Given the description of an element on the screen output the (x, y) to click on. 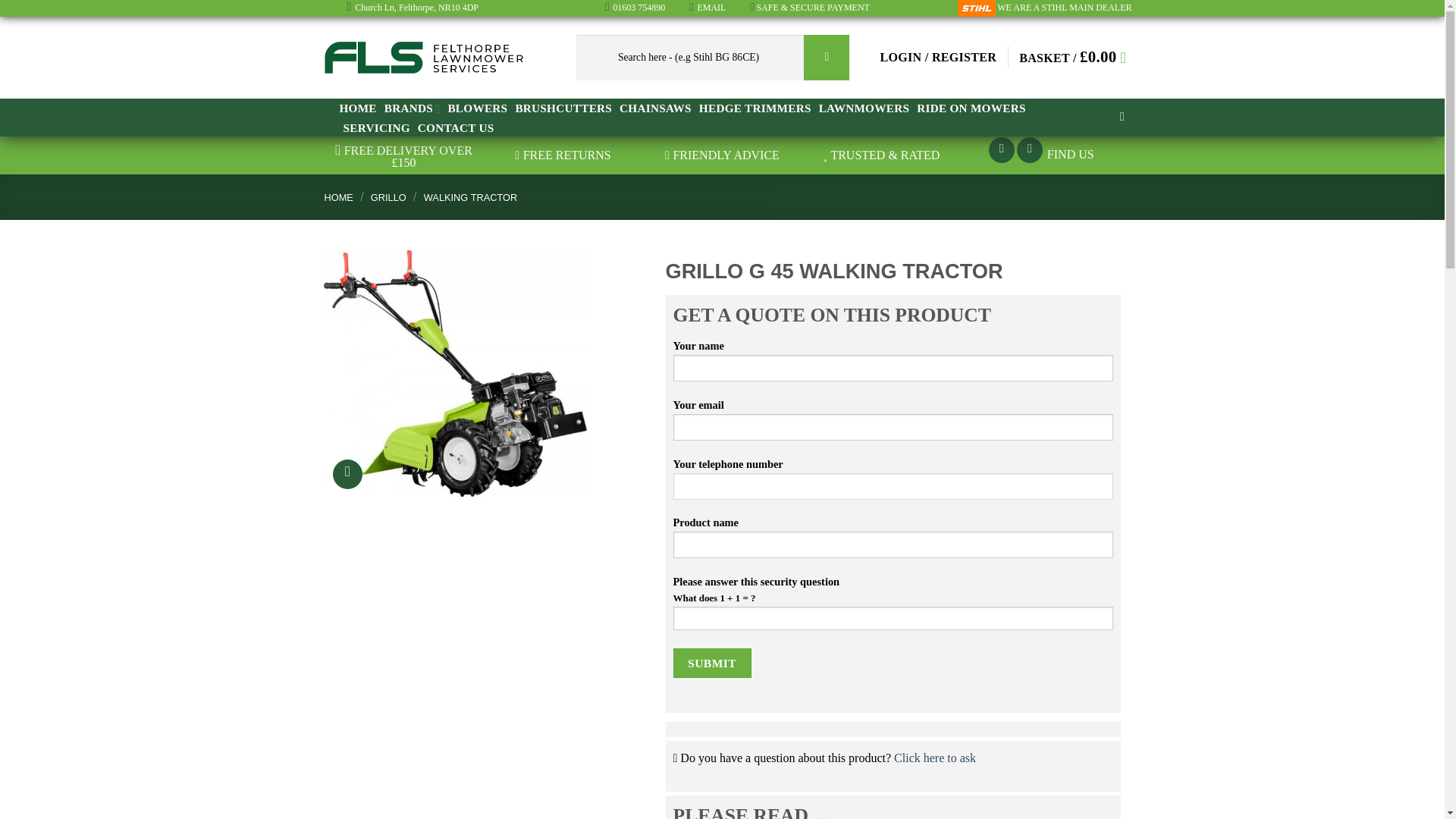
Zoom (347, 473)
Follow on Facebook (1001, 149)
Felthorpe Lawn Mowers (423, 57)
Follow on Instagram (1029, 149)
BRANDS (412, 108)
Submit (711, 663)
Basket (1077, 57)
EMAIL (711, 7)
HOME (358, 108)
Church Ln, Felthorpe, NR10 4DP (415, 7)
